Given the description of an element on the screen output the (x, y) to click on. 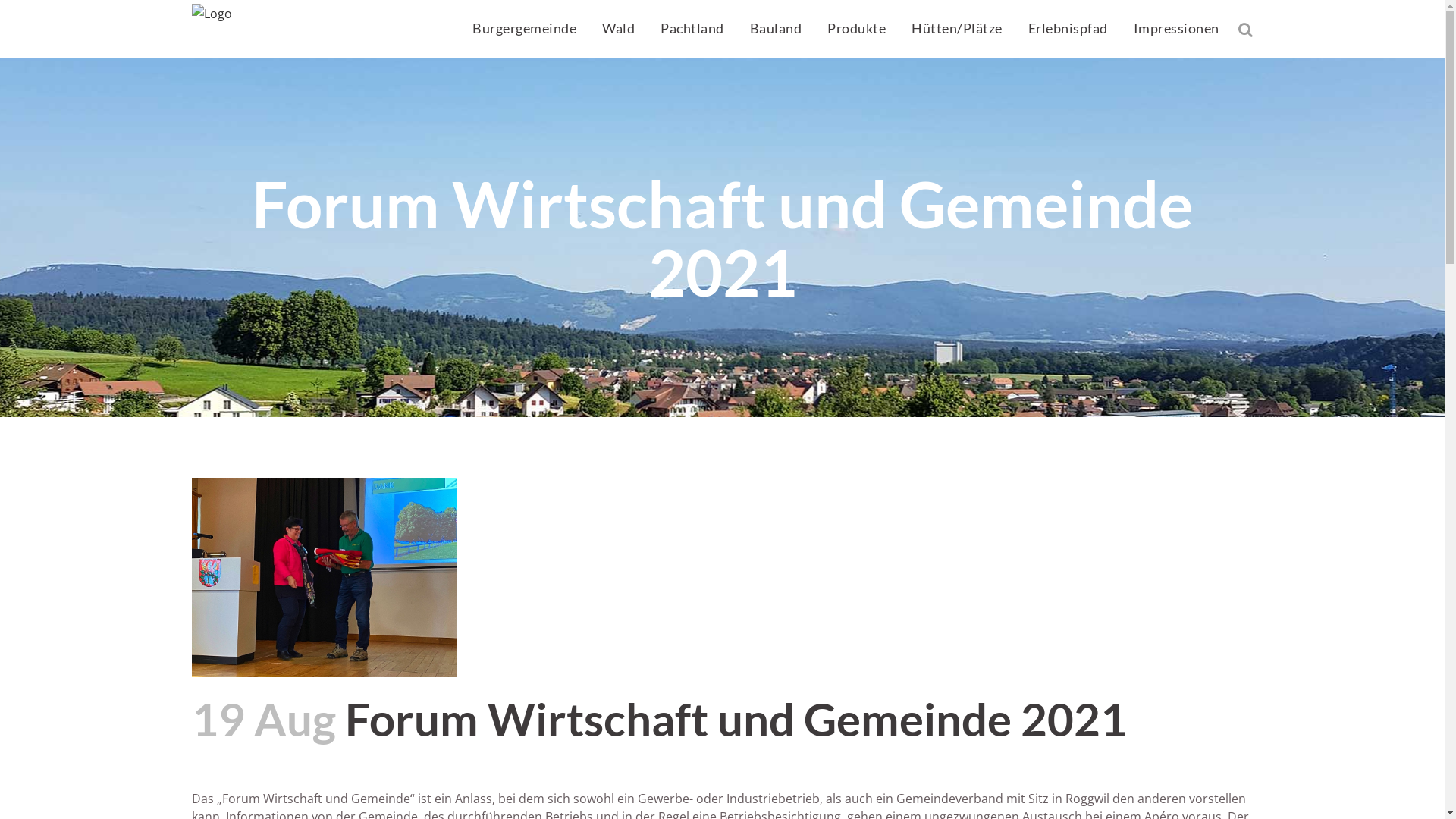
Erlebnispfad Element type: text (1067, 28)
Pachtland Element type: text (692, 28)
Produkte Element type: text (856, 28)
Burgergemeinde Element type: text (524, 28)
Wald Element type: text (618, 28)
Bauland Element type: text (776, 28)
Impressionen Element type: text (1176, 28)
